Given the description of an element on the screen output the (x, y) to click on. 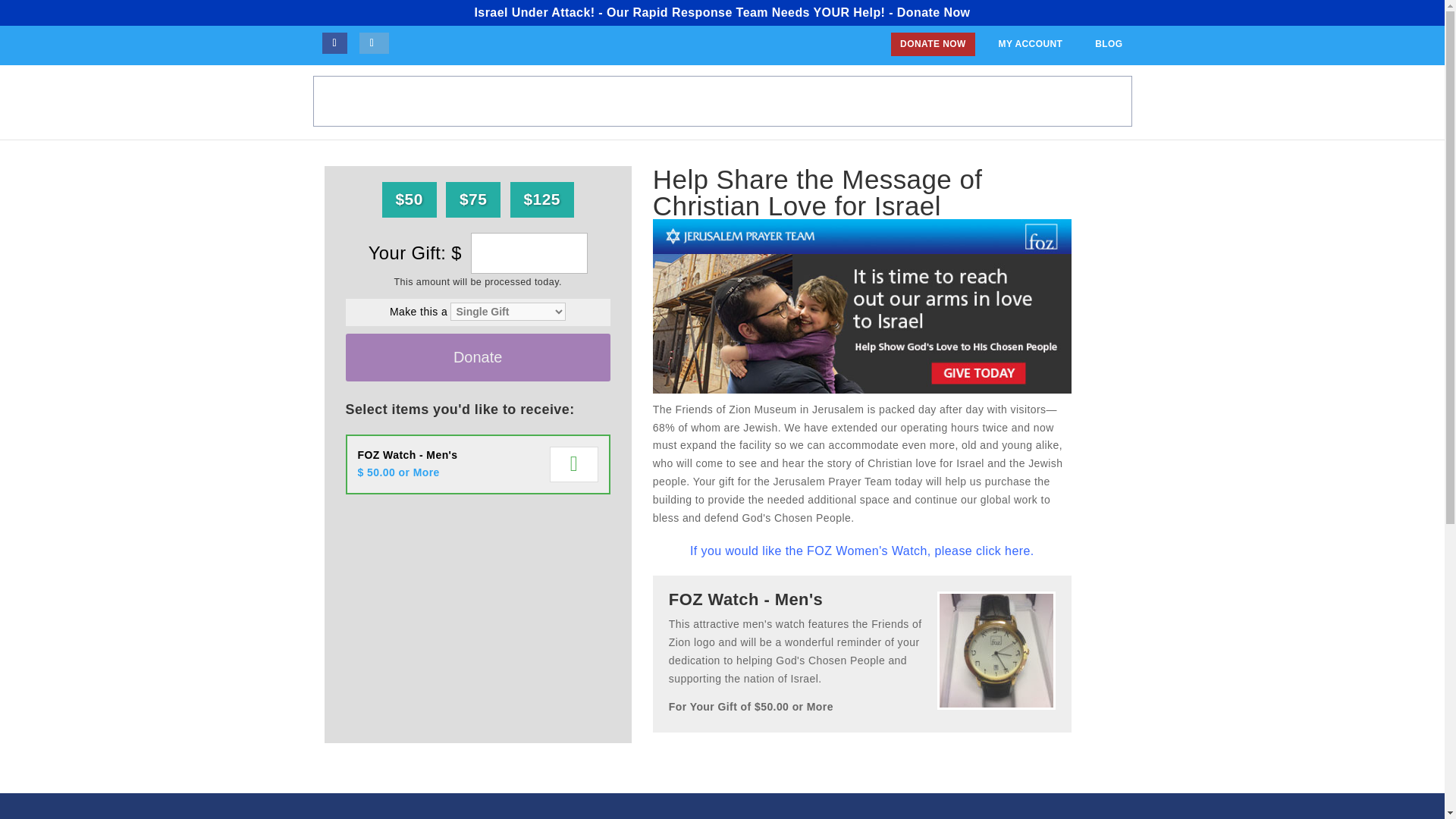
HOME (656, 101)
MEMBERS (877, 101)
DONATE NOW (933, 44)
GIVE (1085, 101)
BLOG (1108, 44)
Amount (529, 252)
STORE (1036, 101)
PRAY (817, 101)
MY ACCOUNT (1029, 44)
LEARN (766, 101)
OUTREACHES (961, 101)
ABOUT (710, 101)
